Given the description of an element on the screen output the (x, y) to click on. 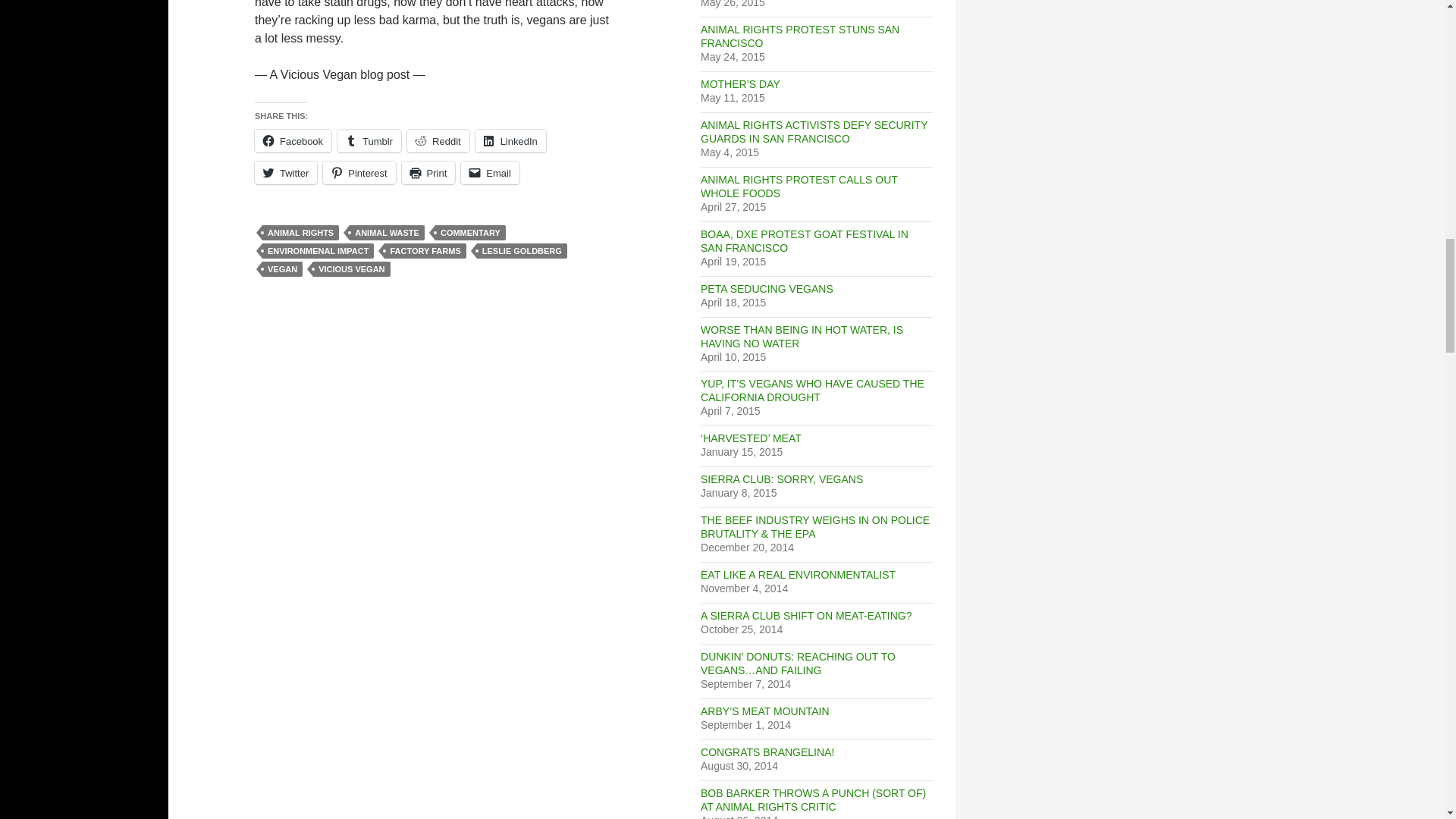
LinkedIn (511, 140)
Click to share on LinkedIn (511, 140)
Tumblr (369, 140)
FACTORY FARMS (424, 250)
Click to share on Facebook (292, 140)
ANIMAL WASTE (387, 232)
Click to share on Tumblr (369, 140)
Click to email a link to a friend (490, 172)
Twitter (285, 172)
Facebook (292, 140)
COMMENTARY (470, 232)
Click to share on Twitter (285, 172)
VICIOUS VEGAN (351, 268)
Click to share on Reddit (437, 140)
Print (428, 172)
